Given the description of an element on the screen output the (x, y) to click on. 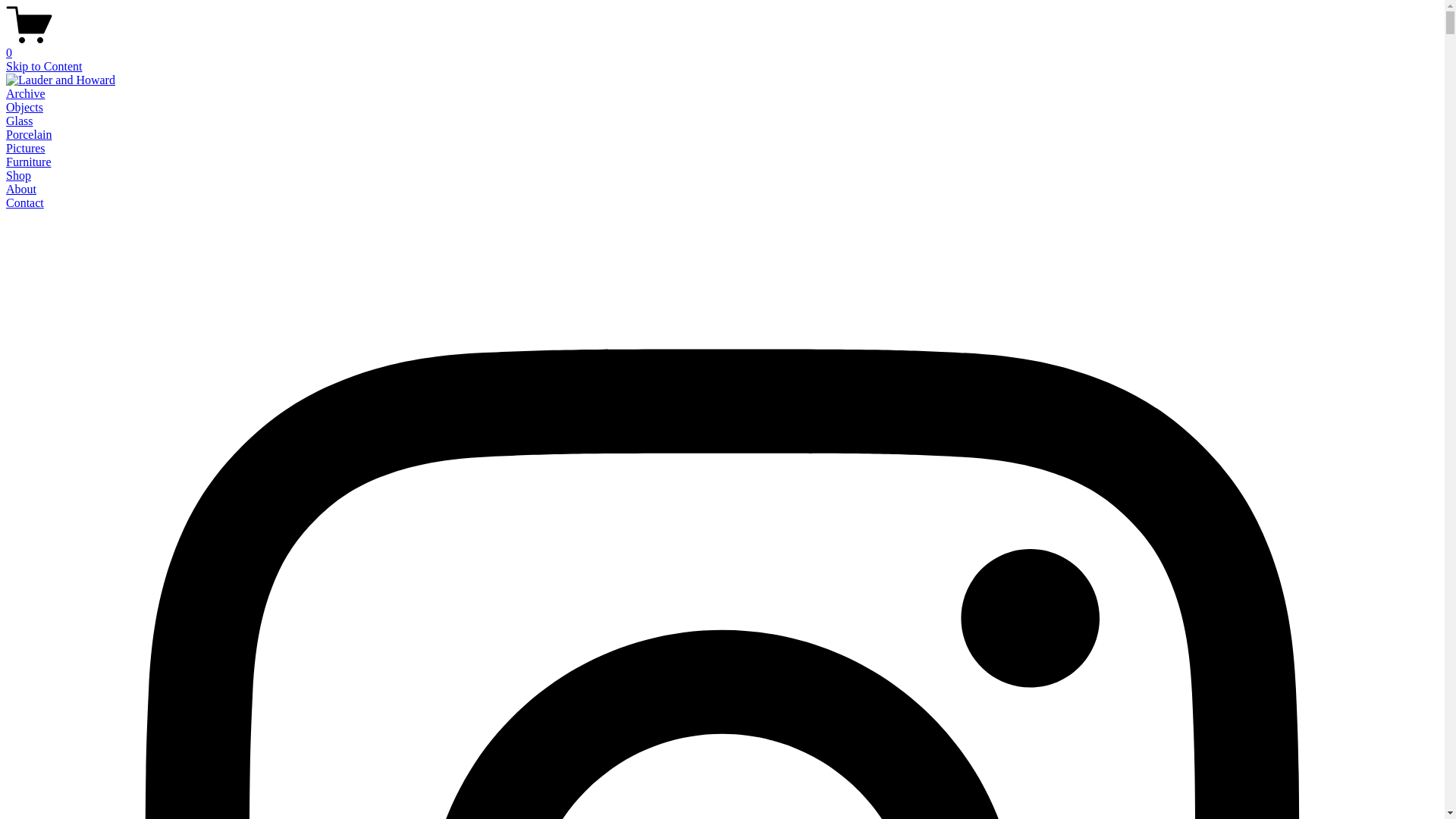
Furniture Element type: text (28, 161)
Archive Element type: text (25, 93)
Pictures Element type: text (25, 147)
0 Element type: text (722, 45)
About Element type: text (21, 188)
Skip to Content Element type: text (43, 65)
Contact Element type: text (24, 202)
Porcelain Element type: text (28, 134)
Objects Element type: text (24, 106)
Glass Element type: text (19, 120)
Shop Element type: text (18, 175)
